Given the description of an element on the screen output the (x, y) to click on. 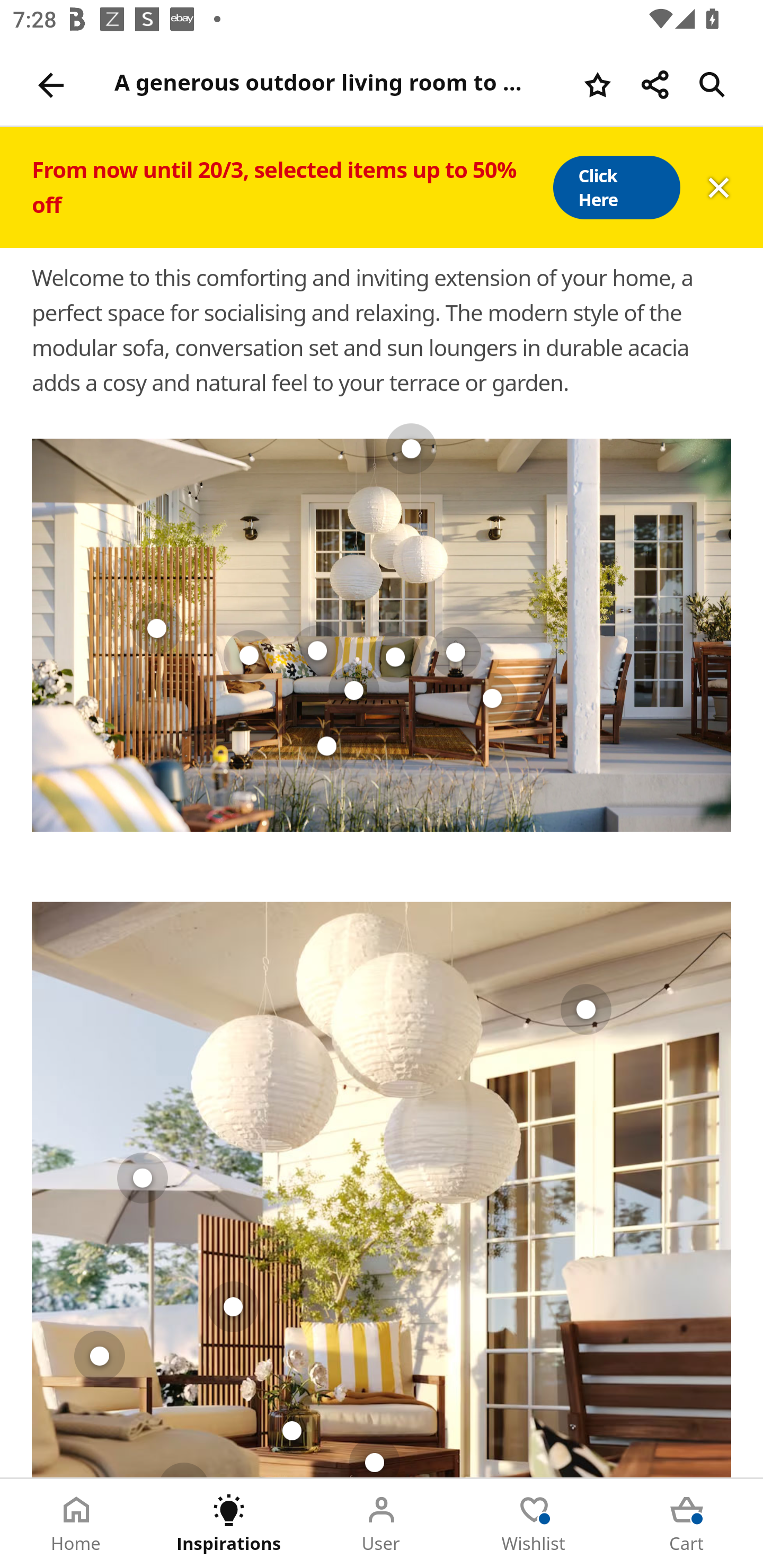
Click Here (615, 187)
Home
Tab 1 of 5 (76, 1522)
Inspirations
Tab 2 of 5 (228, 1522)
User
Tab 3 of 5 (381, 1522)
Wishlist
Tab 4 of 5 (533, 1522)
Cart
Tab 5 of 5 (686, 1522)
